Given the description of an element on the screen output the (x, y) to click on. 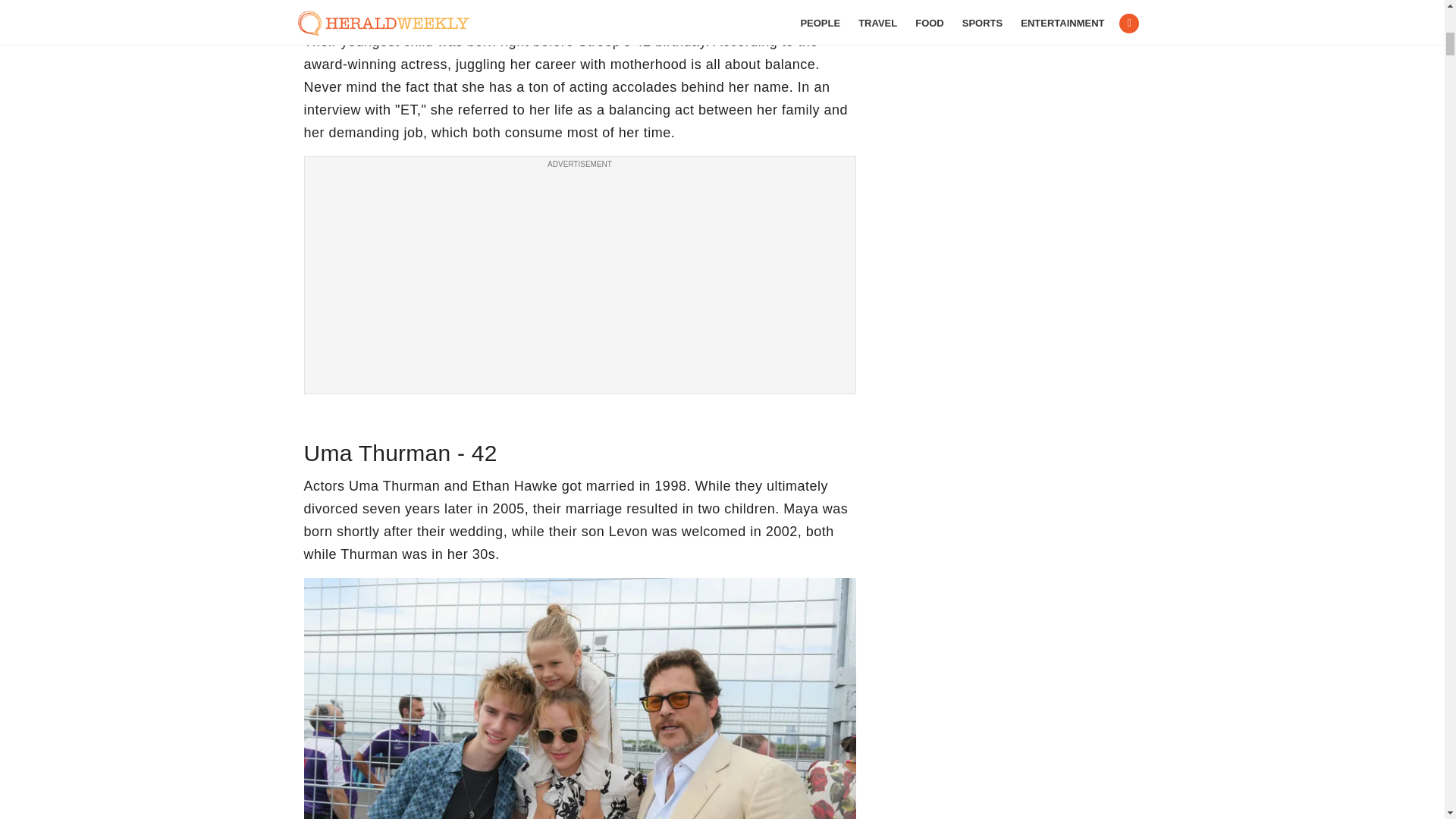
Uma Thurman - 42 (579, 698)
